Given the description of an element on the screen output the (x, y) to click on. 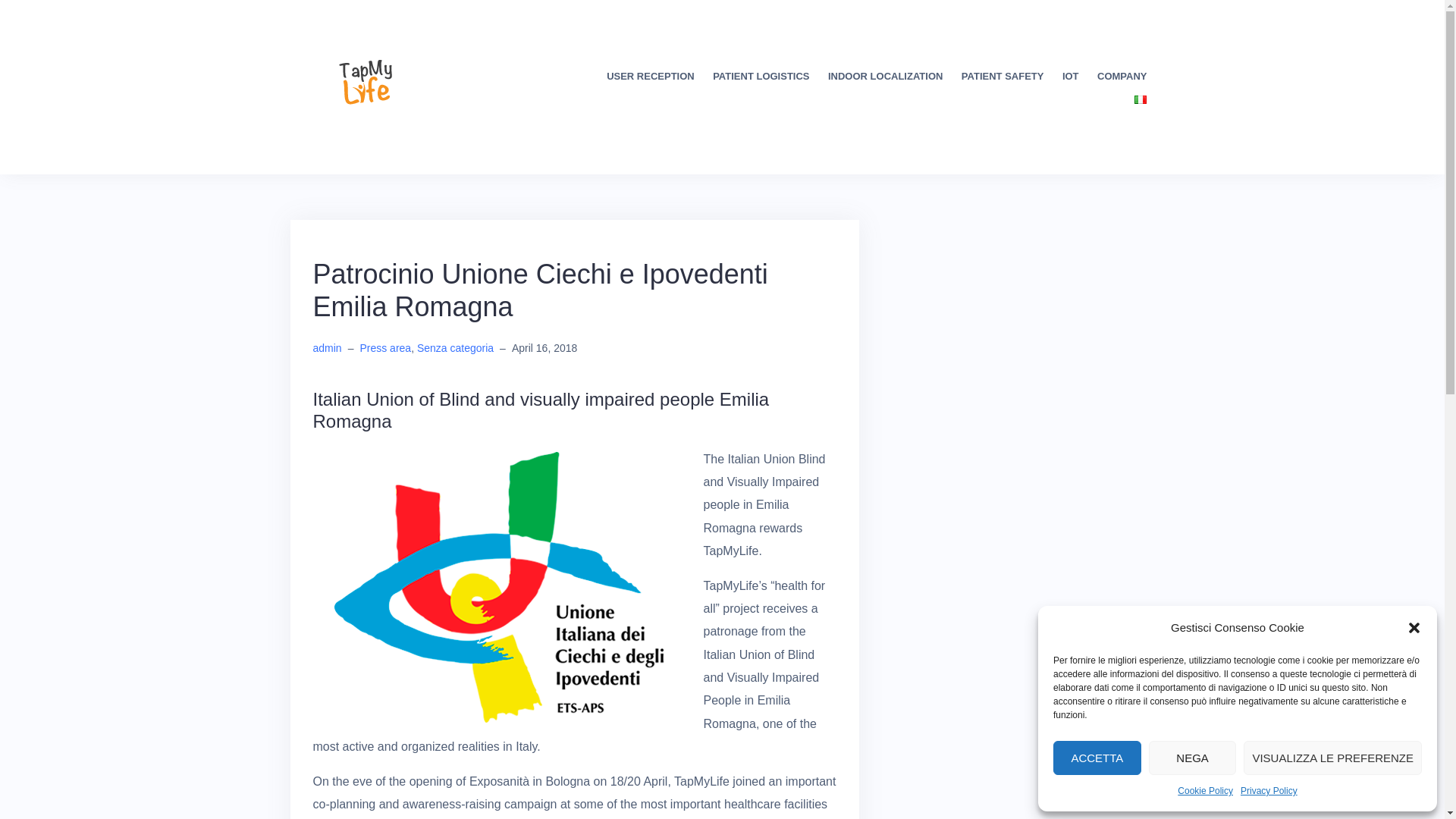
VISUALIZZA LE PREFERENZE (1332, 757)
Privacy Policy (1268, 791)
NEGA (1192, 757)
ACCETTA (1096, 757)
Cookie Policy (1205, 791)
